Given the description of an element on the screen output the (x, y) to click on. 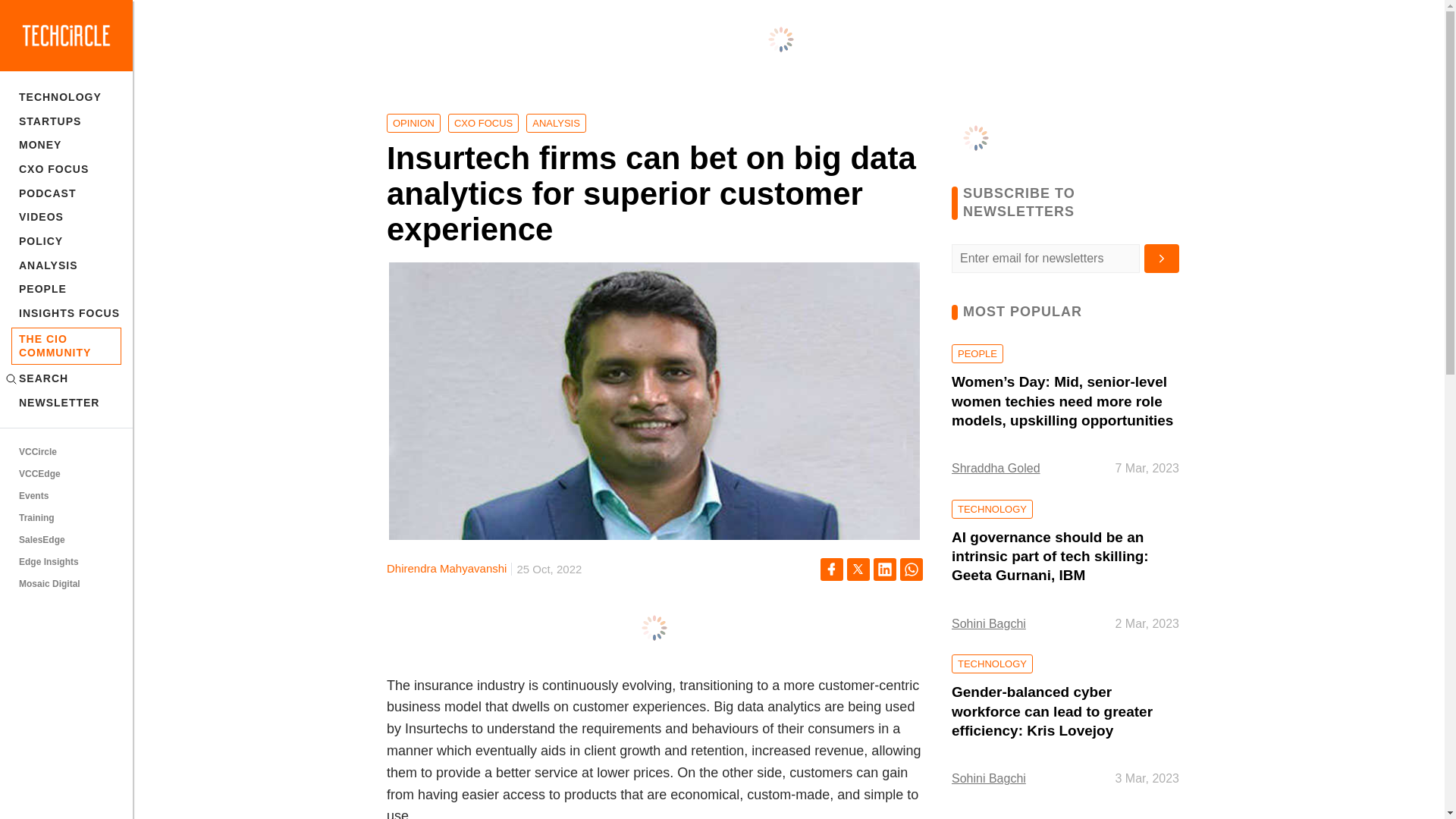
INSIGHTS FOCUS (66, 313)
POLICY (66, 240)
NEWSLETTER (66, 403)
CXO FOCUS (66, 168)
ANALYSIS (66, 265)
Linkedin (884, 568)
VIDEOS (66, 217)
Facebook (832, 568)
SEARCH (66, 378)
STARTUPS (66, 121)
